Given the description of an element on the screen output the (x, y) to click on. 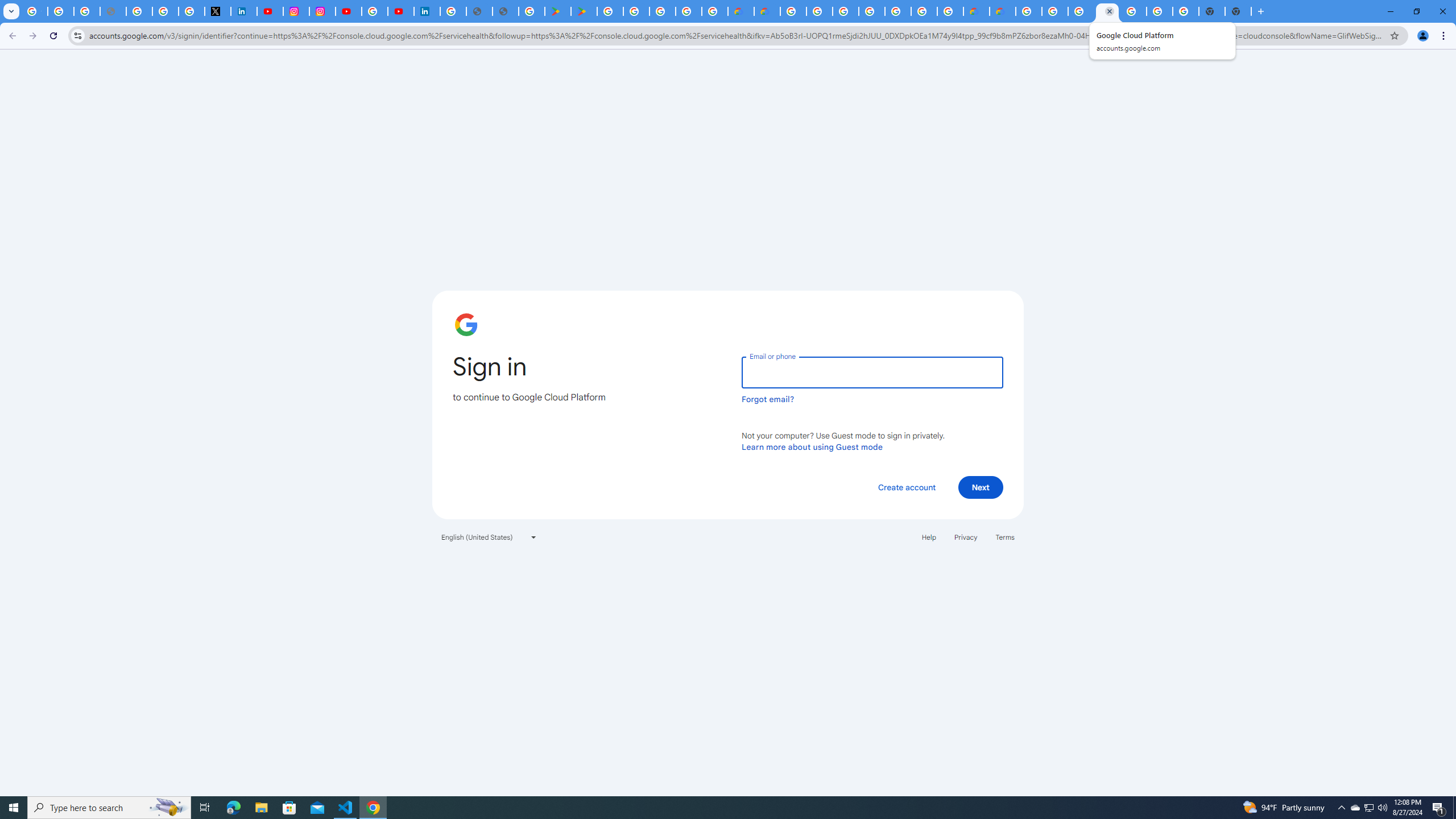
Browse Chrome as a guest - Computer - Google Chrome Help (1080, 11)
Email or phone (871, 372)
Create account (905, 486)
Google Cloud Platform (792, 11)
support.google.com - Network error (112, 11)
